Given the description of an element on the screen output the (x, y) to click on. 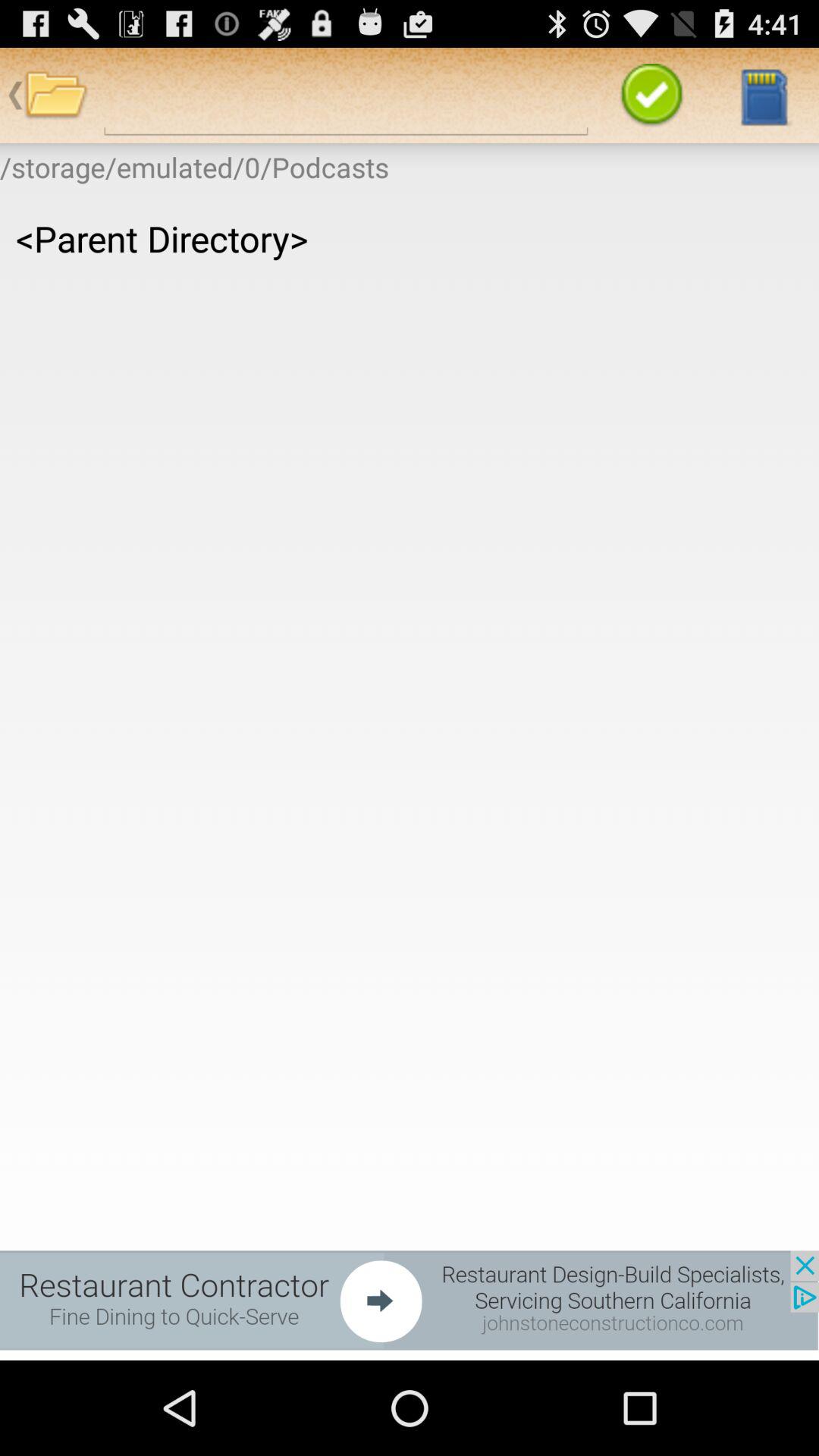
click the advertisement (409, 1300)
